Given the description of an element on the screen output the (x, y) to click on. 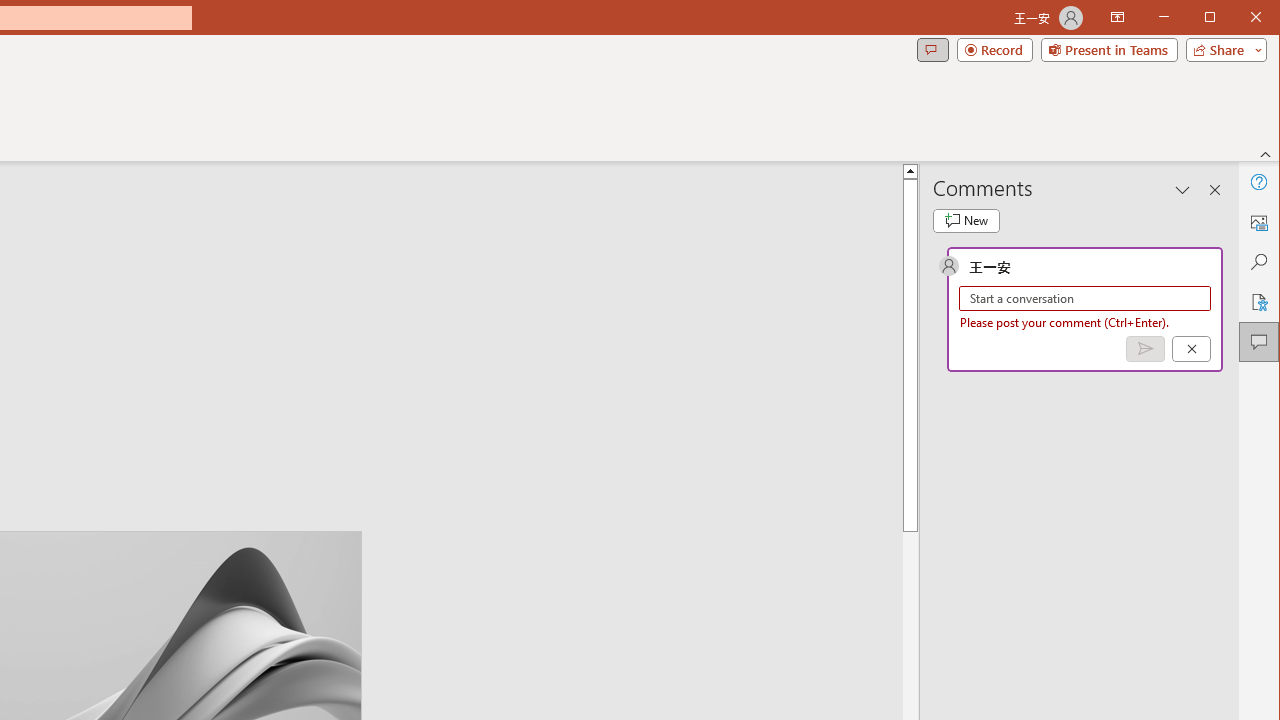
New comment (966, 220)
